Given the description of an element on the screen output the (x, y) to click on. 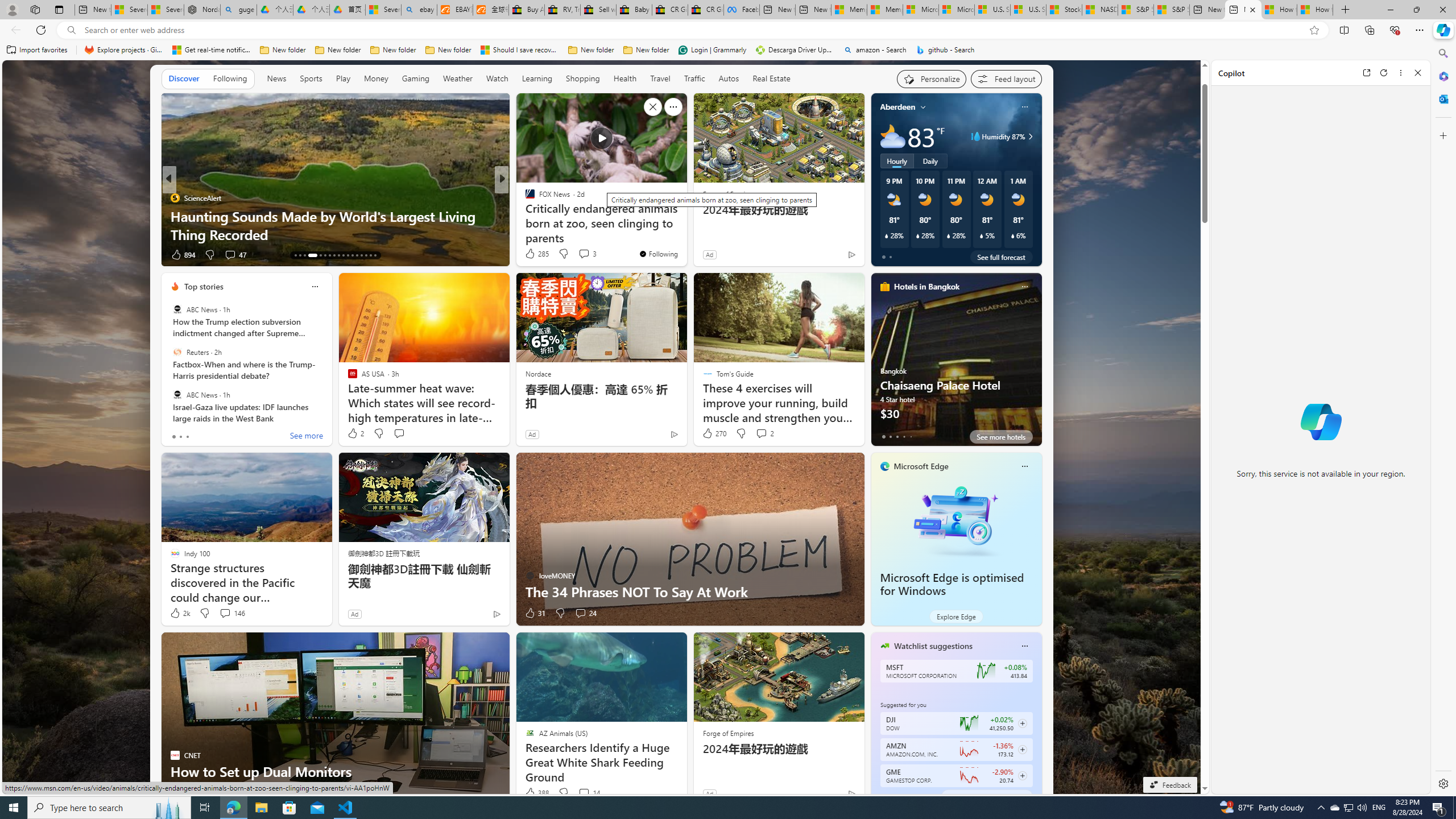
36 Like (180, 254)
AutomationID: tab-40 (366, 255)
My location (922, 106)
Watch (496, 78)
tab-0 (882, 795)
News (277, 79)
Facebook (741, 9)
Microsoft Edge is optimised for Windows (955, 519)
View comments 167 Comment (583, 254)
Health (624, 79)
